Given the description of an element on the screen output the (x, y) to click on. 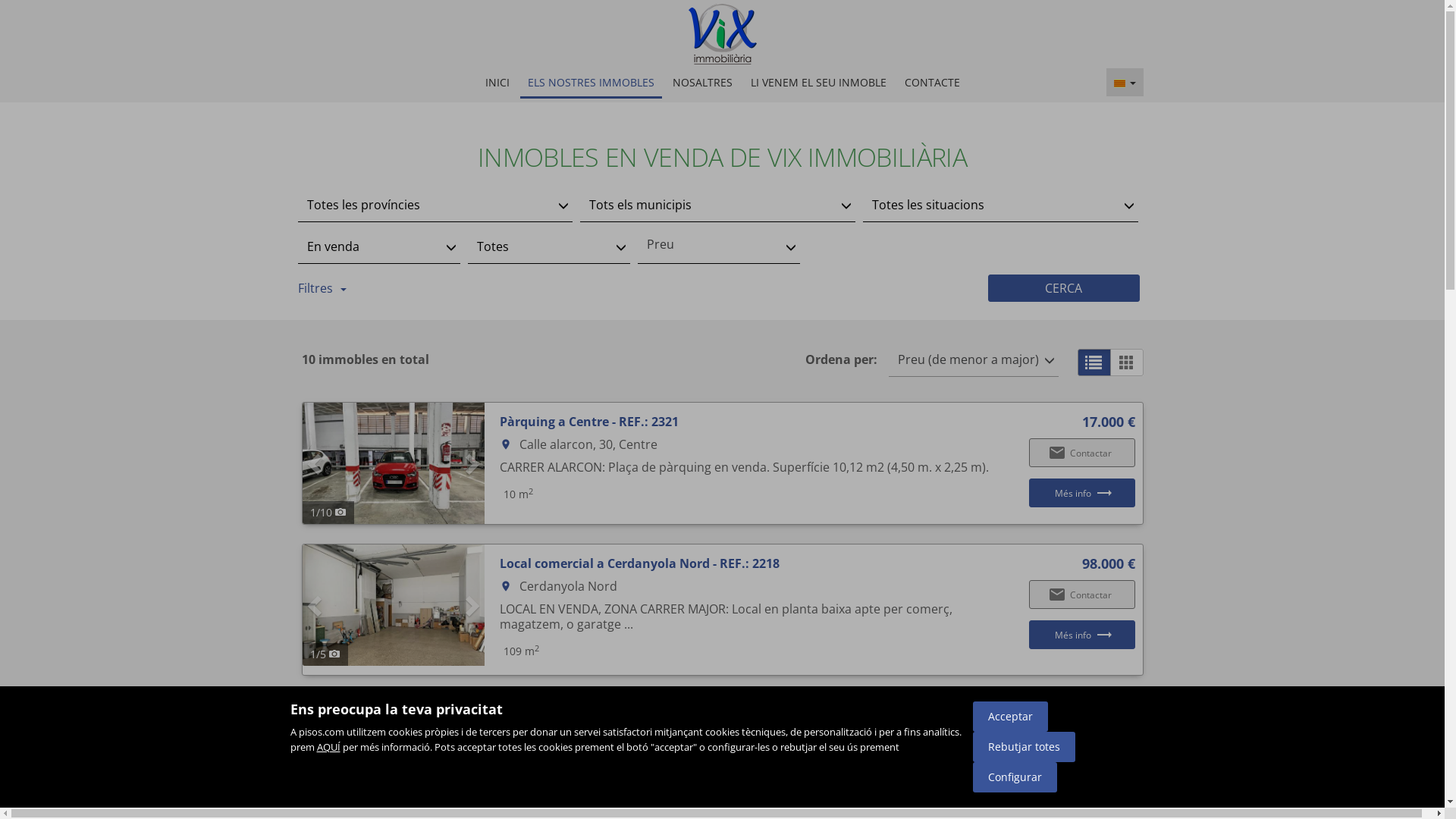
email
Contactar Element type: text (1081, 452)
En venda Element type: text (378, 246)
LI VENEM EL SEU INMOBLE Element type: text (818, 82)
INICI Element type: text (497, 82)
NOSALTRES Element type: text (702, 82)
Next Element type: text (469, 755)
Next Element type: text (469, 463)
email
Contactar Element type: text (1081, 760)
Preu (de menor a major) Element type: text (973, 359)
Filtres Element type: text (321, 287)
Previous Element type: text (315, 463)
Local comercial a Cerdanyola Nord - REF.: 2218 Element type: text (638, 563)
Previous Element type: text (315, 604)
ELS NOSTRES IMMOBLES Element type: text (591, 83)
Configurar Element type: text (1014, 777)
Totes Element type: text (548, 246)
Next Element type: text (469, 604)
CERCA Element type: text (1063, 287)
CONTACTE Element type: text (932, 82)
Previous Element type: text (315, 755)
email
Contactar Element type: text (1081, 594)
Tots els municipis Element type: text (717, 205)
Totes les situacions Element type: text (1000, 205)
